Given the description of an element on the screen output the (x, y) to click on. 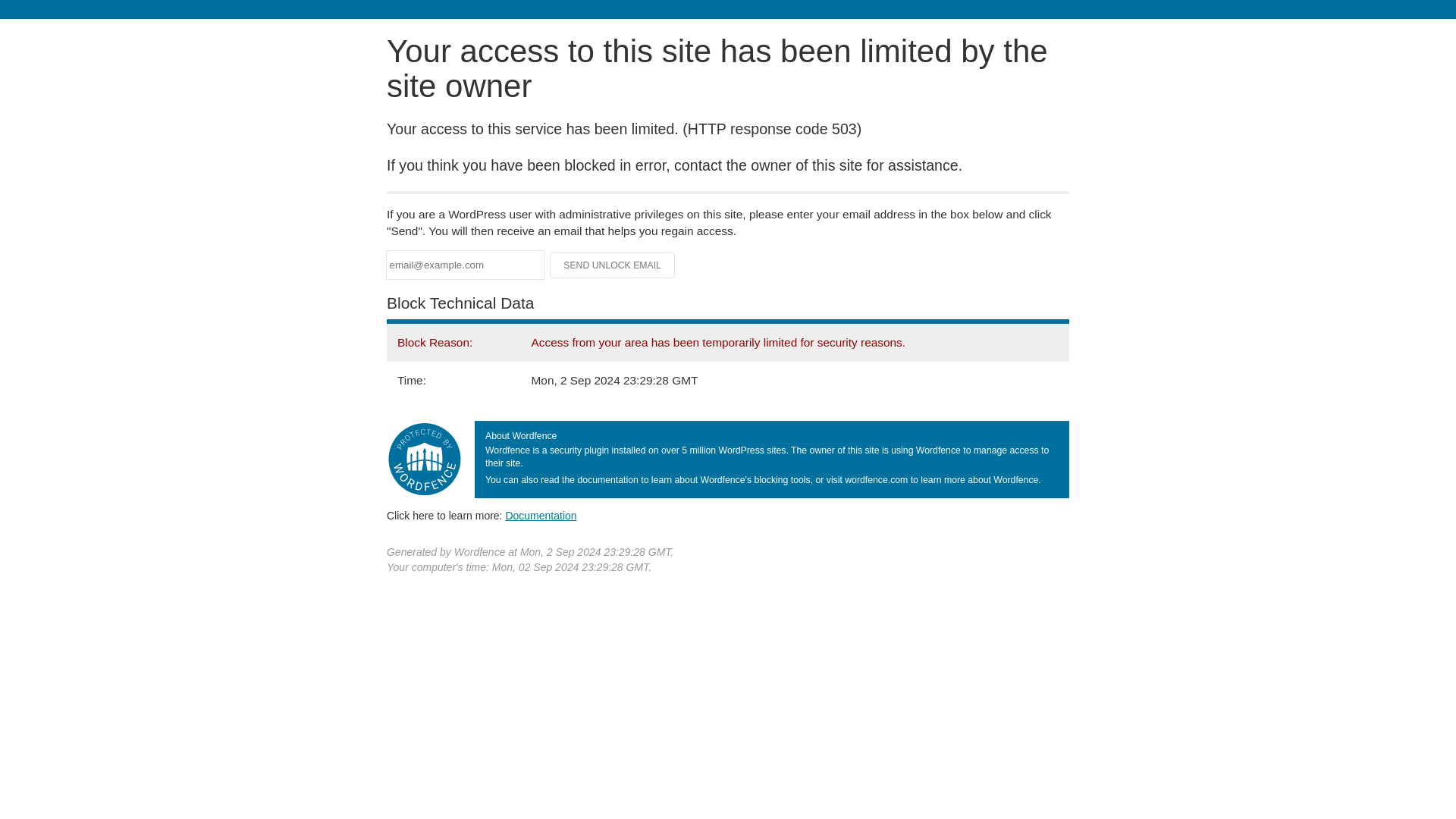
Send Unlock Email (612, 265)
Send Unlock Email (612, 265)
Documentation (540, 515)
